Given the description of an element on the screen output the (x, y) to click on. 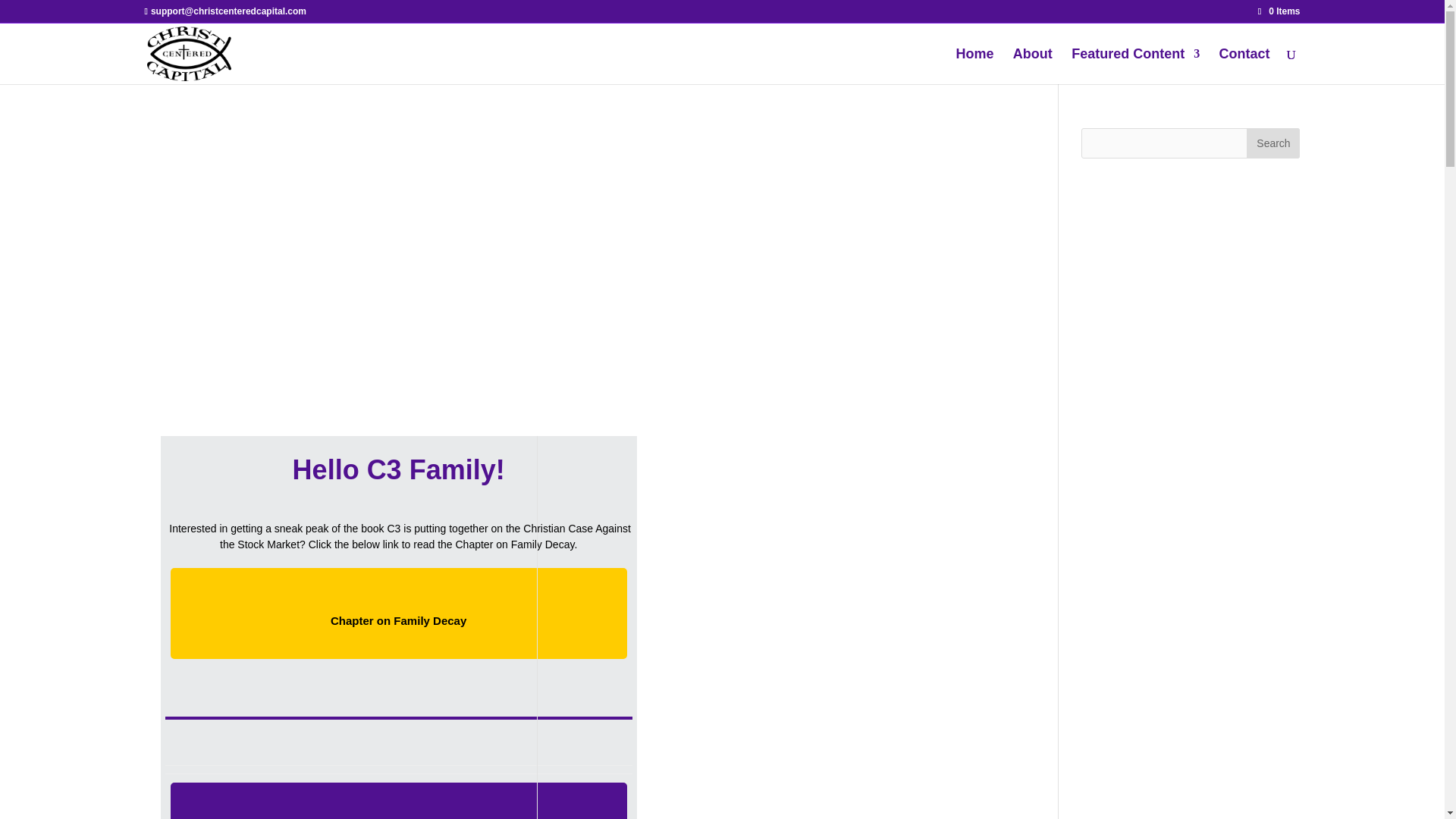
Contact (1244, 66)
Chapter on Family Decay (398, 613)
Featured Content (1135, 66)
Search (1273, 142)
Support C3 (398, 812)
0 Items (1278, 10)
Home (973, 66)
About (1032, 66)
